Given the description of an element on the screen output the (x, y) to click on. 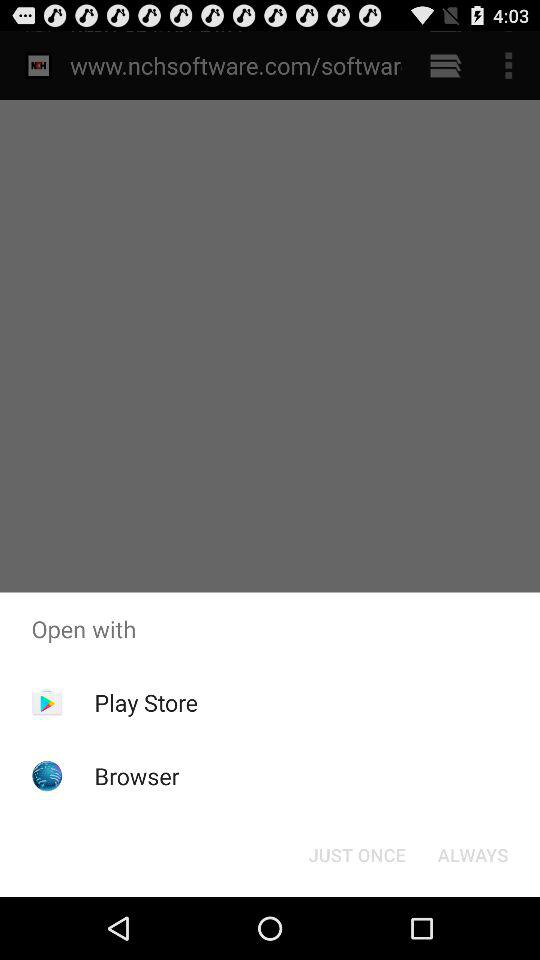
click button to the left of the always item (356, 854)
